Given the description of an element on the screen output the (x, y) to click on. 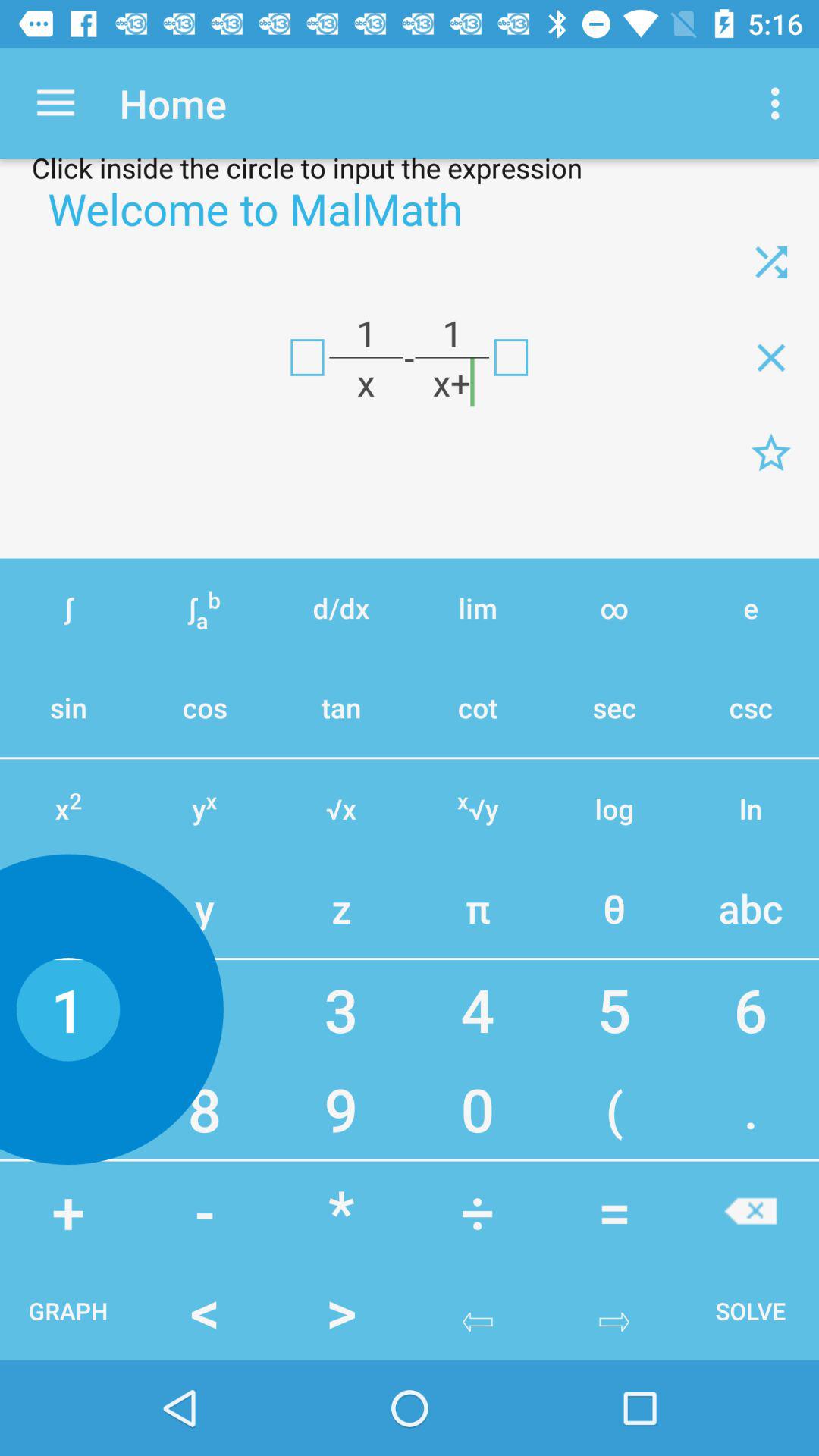
box button (510, 357)
